Given the description of an element on the screen output the (x, y) to click on. 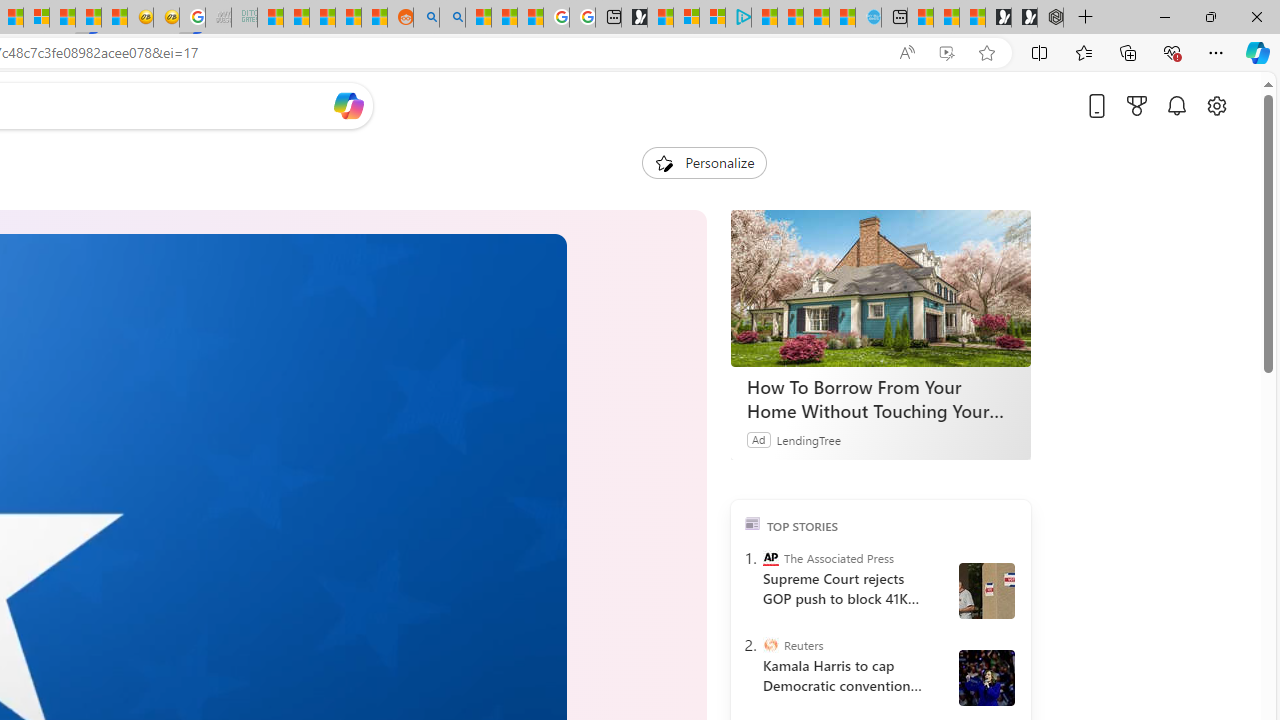
Enhance video (946, 53)
Reuters (770, 645)
The Associated Press (770, 557)
